Given the description of an element on the screen output the (x, y) to click on. 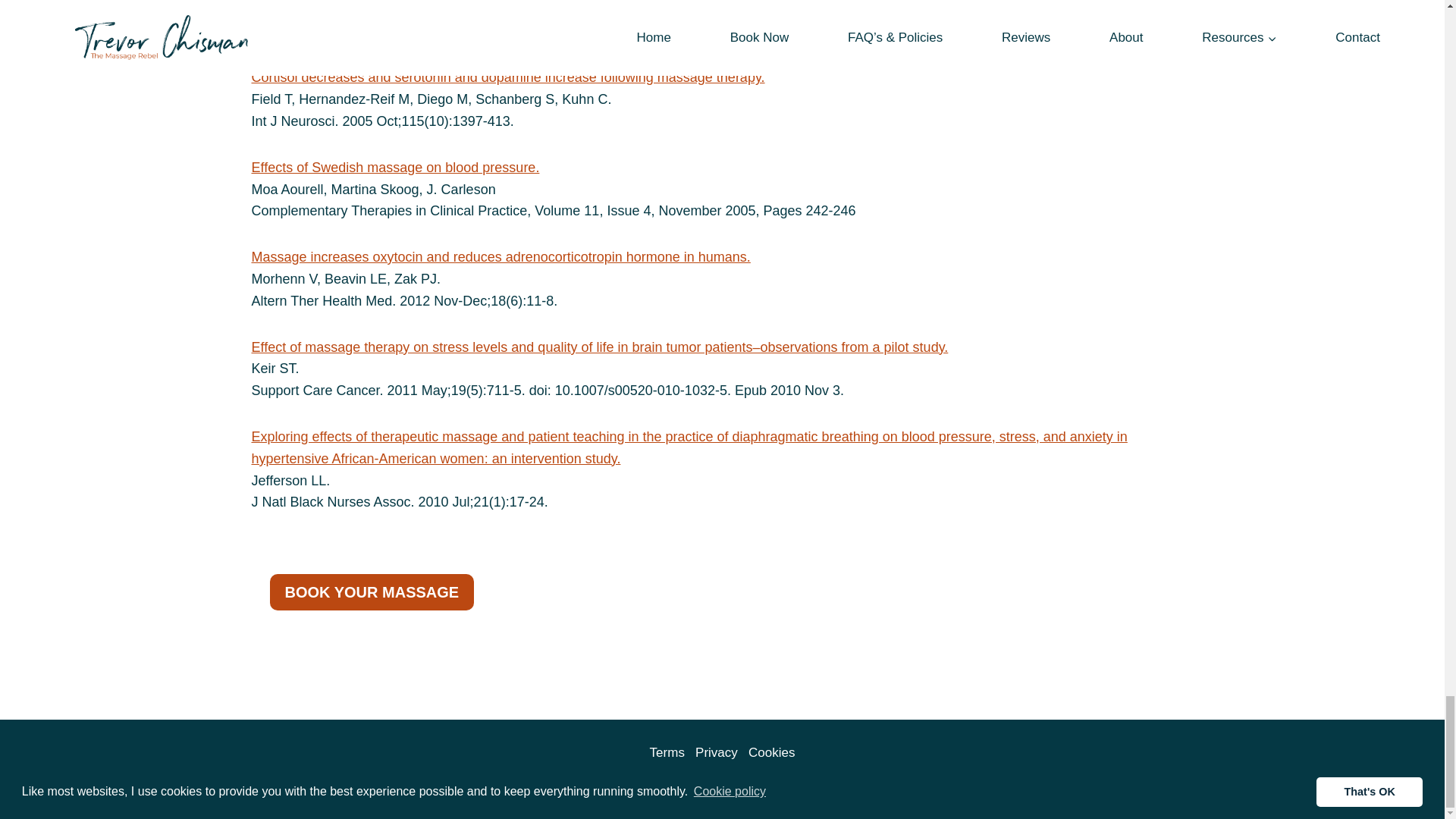
Effects of Swedish massage on blood pressure. (395, 167)
BOOK YOUR MASSAGE (371, 592)
